Given the description of an element on the screen output the (x, y) to click on. 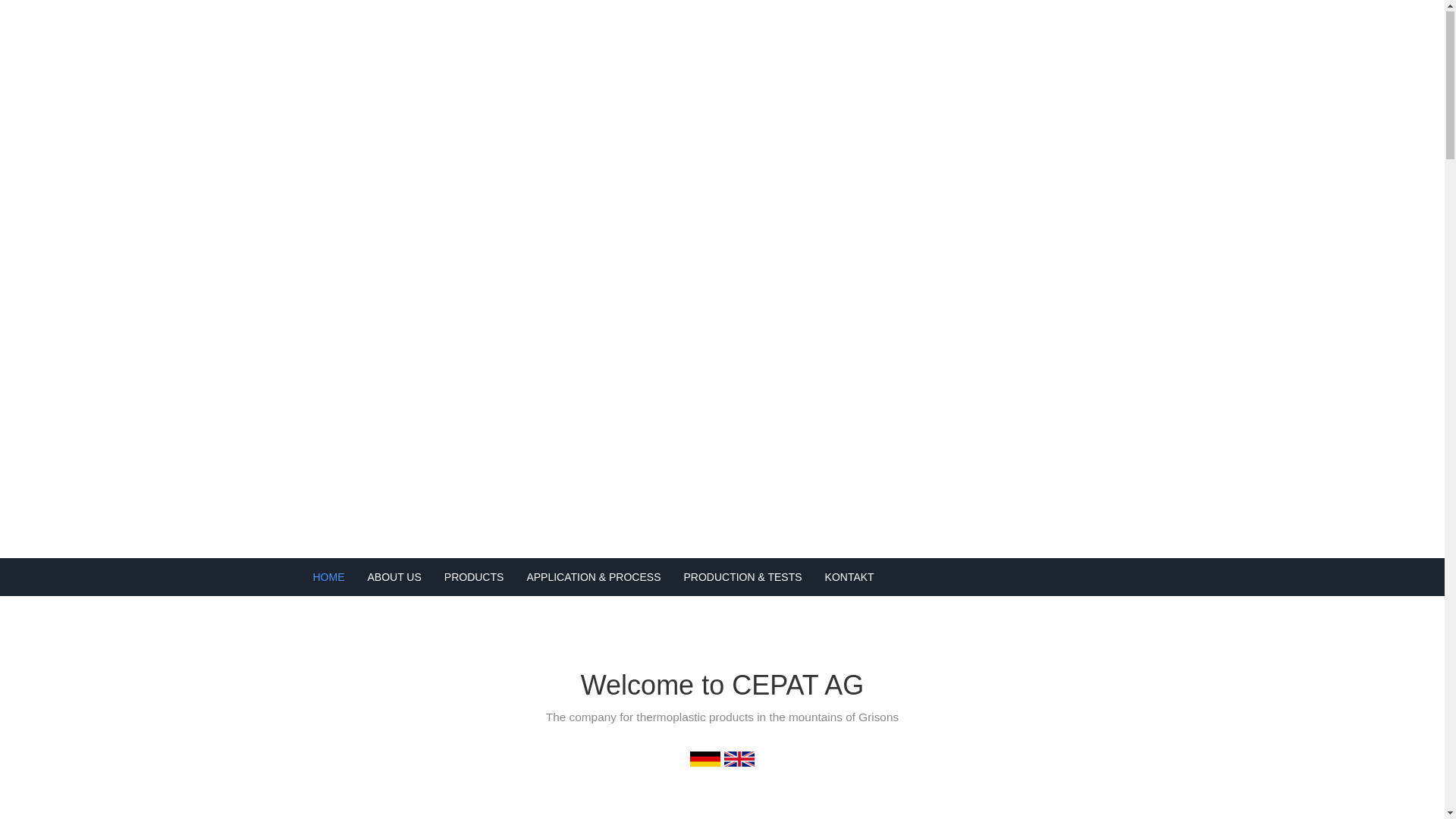
HOME Element type: text (328, 577)
APPLICATION & PROCESS Element type: text (592, 577)
PRODUCTION & TESTS Element type: text (741, 577)
PRODUCTS Element type: text (474, 577)
ABOUT US Element type: text (394, 577)
KONTAKT Element type: text (849, 577)
